Given the description of an element on the screen output the (x, y) to click on. 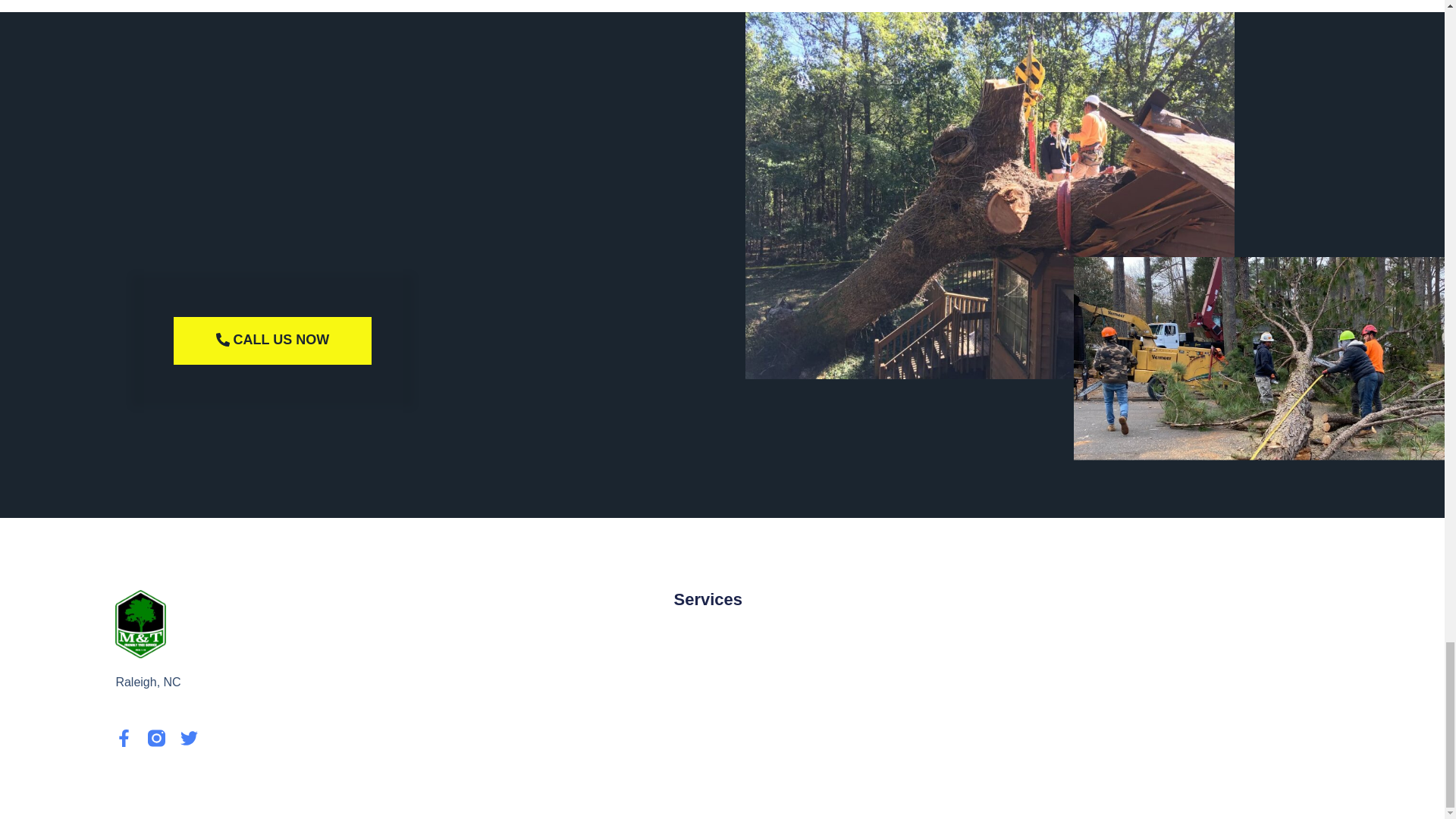
Twitter (189, 737)
Facebook-f (123, 737)
CALL US NOW (272, 340)
